Given the description of an element on the screen output the (x, y) to click on. 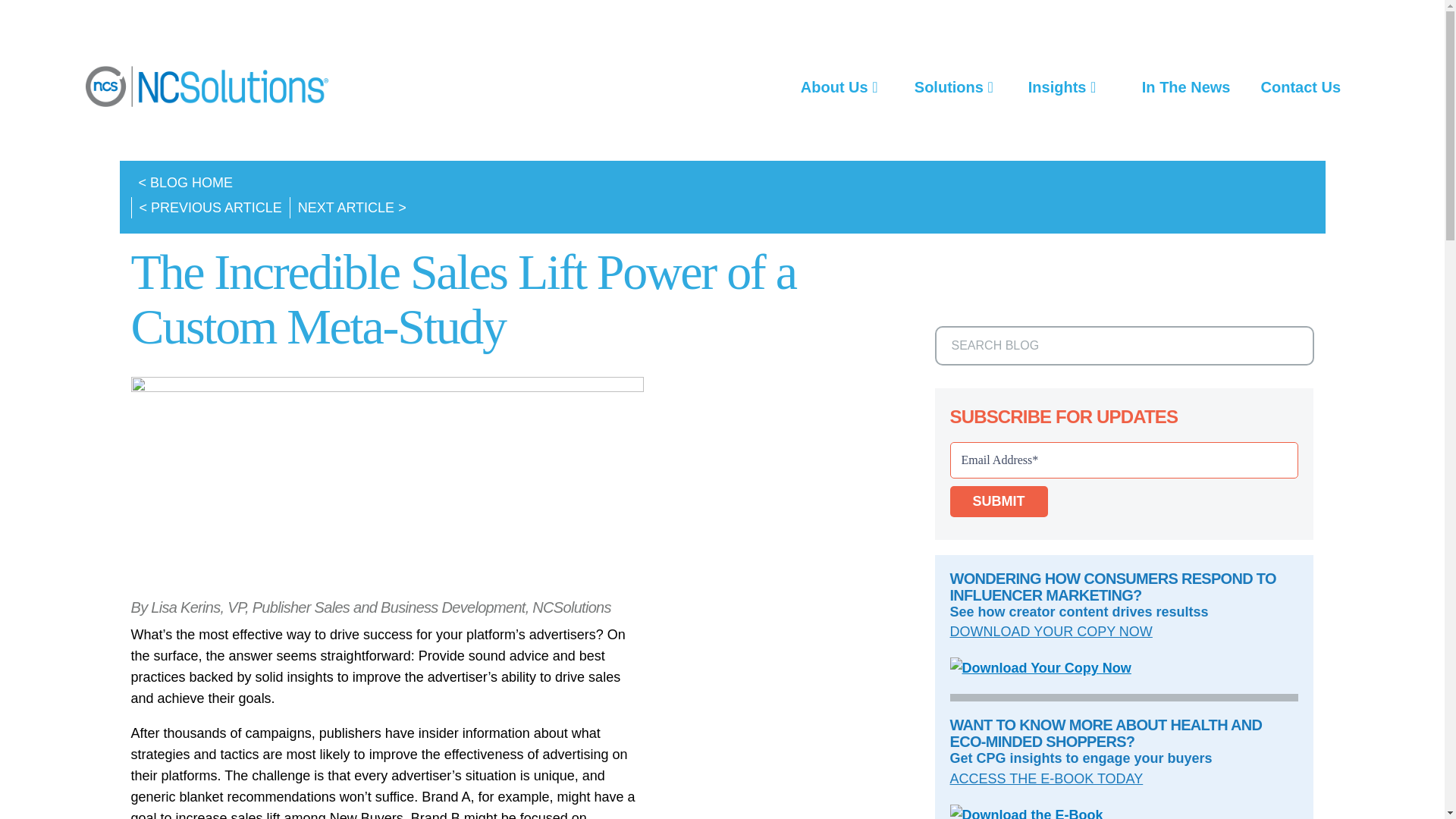
About Us (839, 86)
Submit (997, 501)
Contact Us (1299, 86)
In The News (1186, 86)
Solutions (954, 86)
Insights (1062, 86)
